Given the description of an element on the screen output the (x, y) to click on. 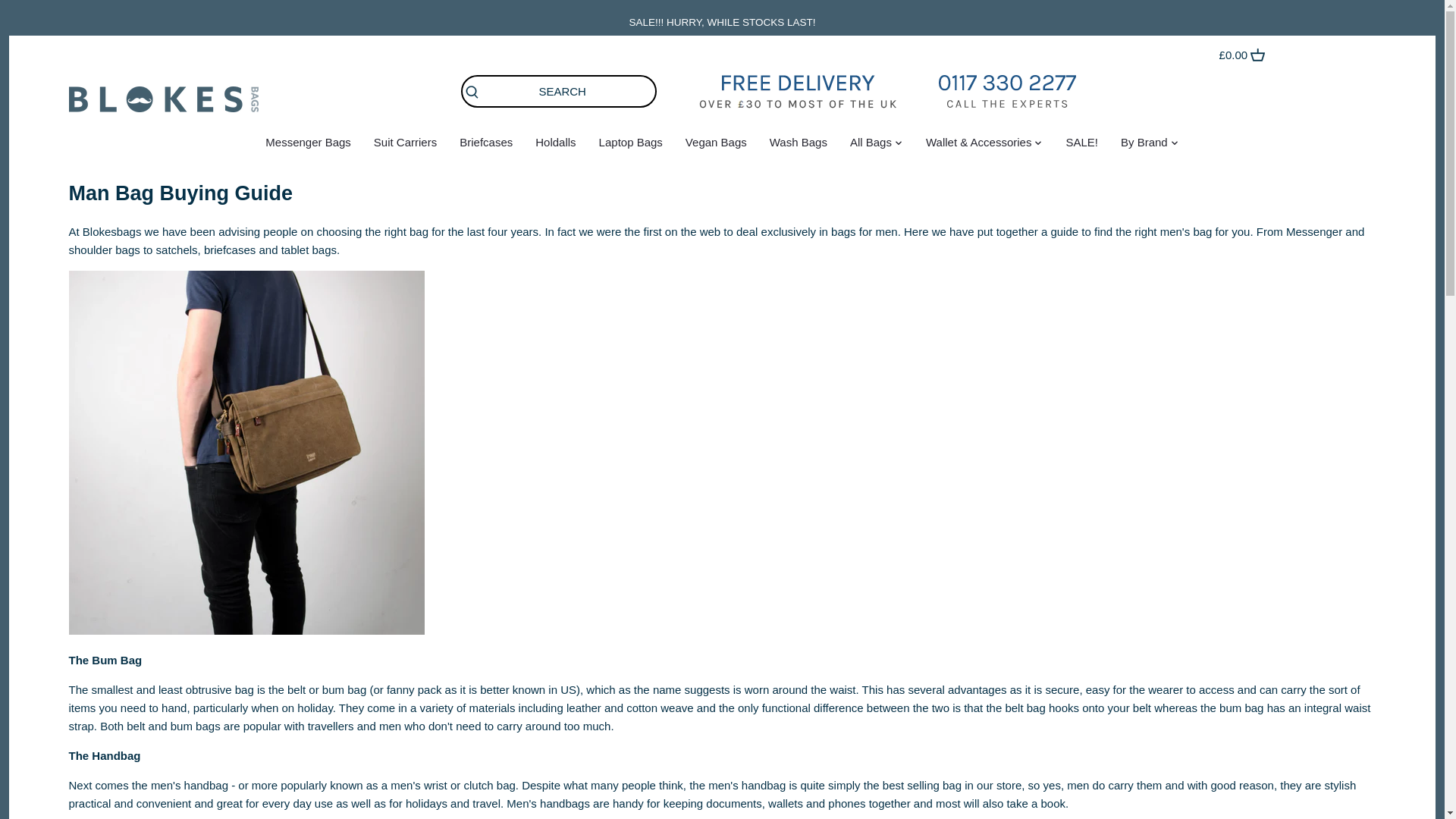
Vegan Bags (716, 145)
Messenger Bags (307, 145)
SALE!!! HURRY, WHILE STOCKS LAST! (721, 22)
Suit Carriers (405, 145)
All Bags (870, 145)
Holdalls (555, 145)
Briefcases (486, 145)
Laptop Bags (631, 145)
Wash Bags (798, 145)
